Given the description of an element on the screen output the (x, y) to click on. 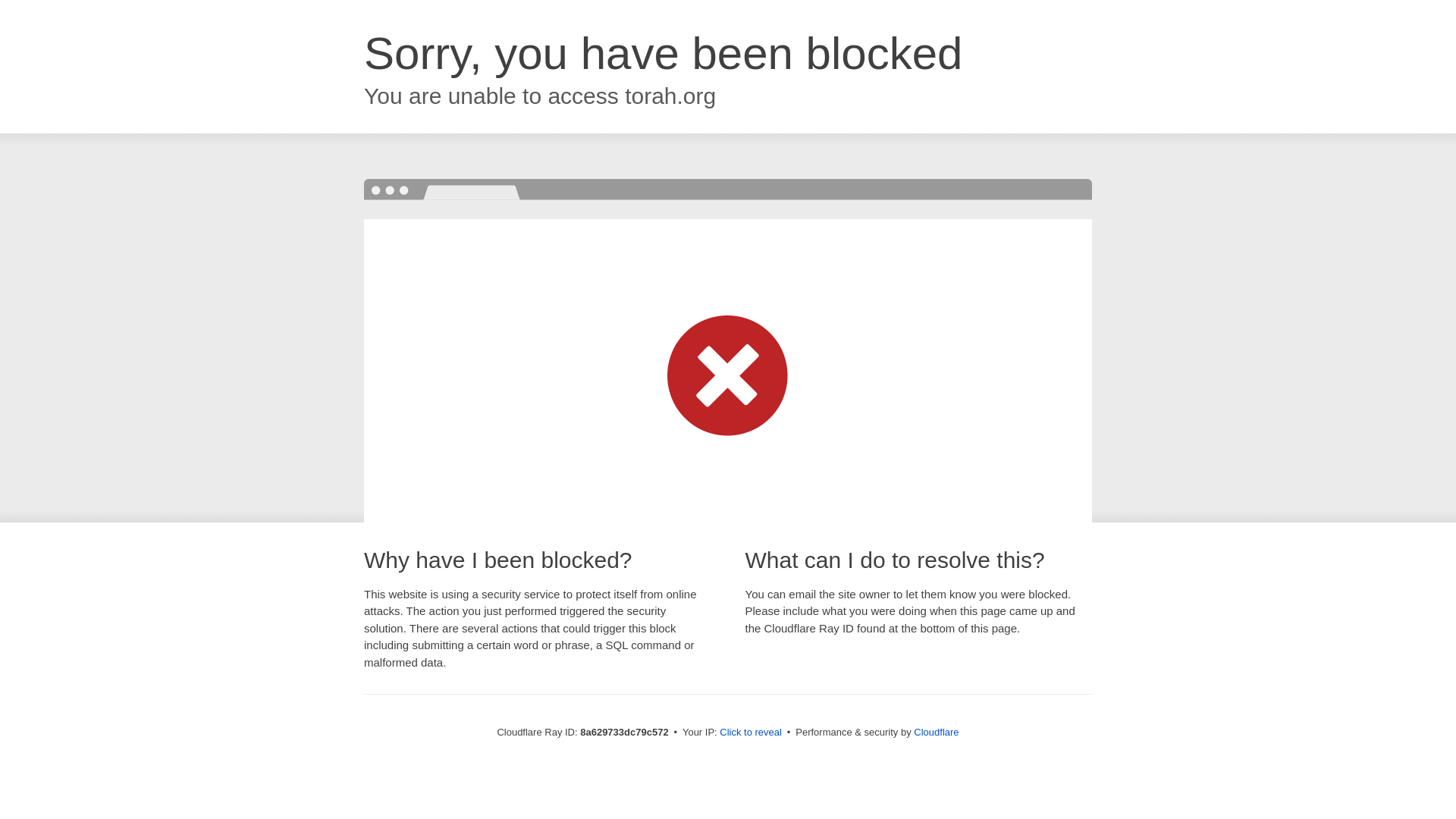
Cloudflare (936, 731)
Click to reveal (750, 732)
